Given the description of an element on the screen output the (x, y) to click on. 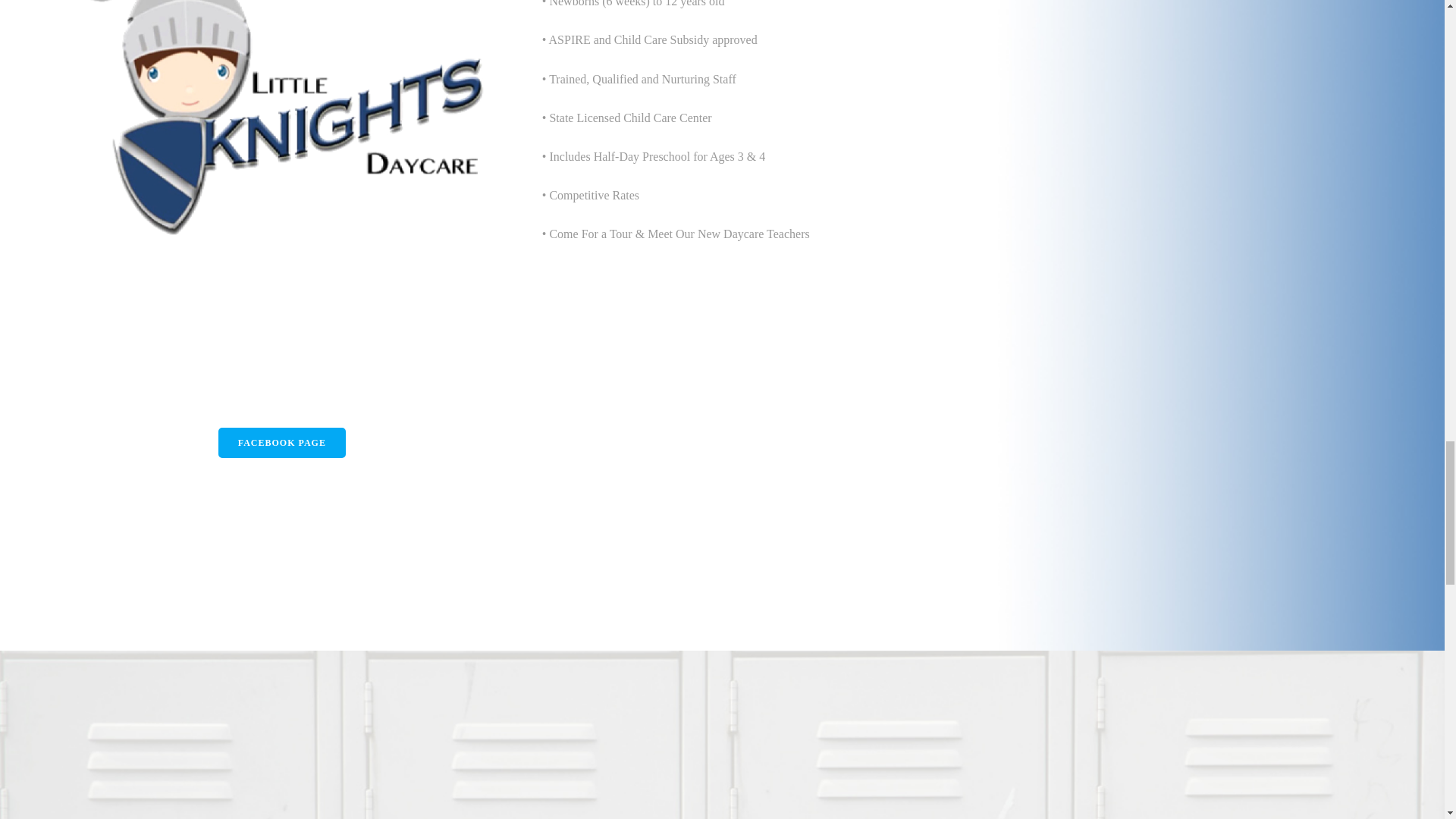
FACEBOOK PAGE (282, 442)
